Given the description of an element on the screen output the (x, y) to click on. 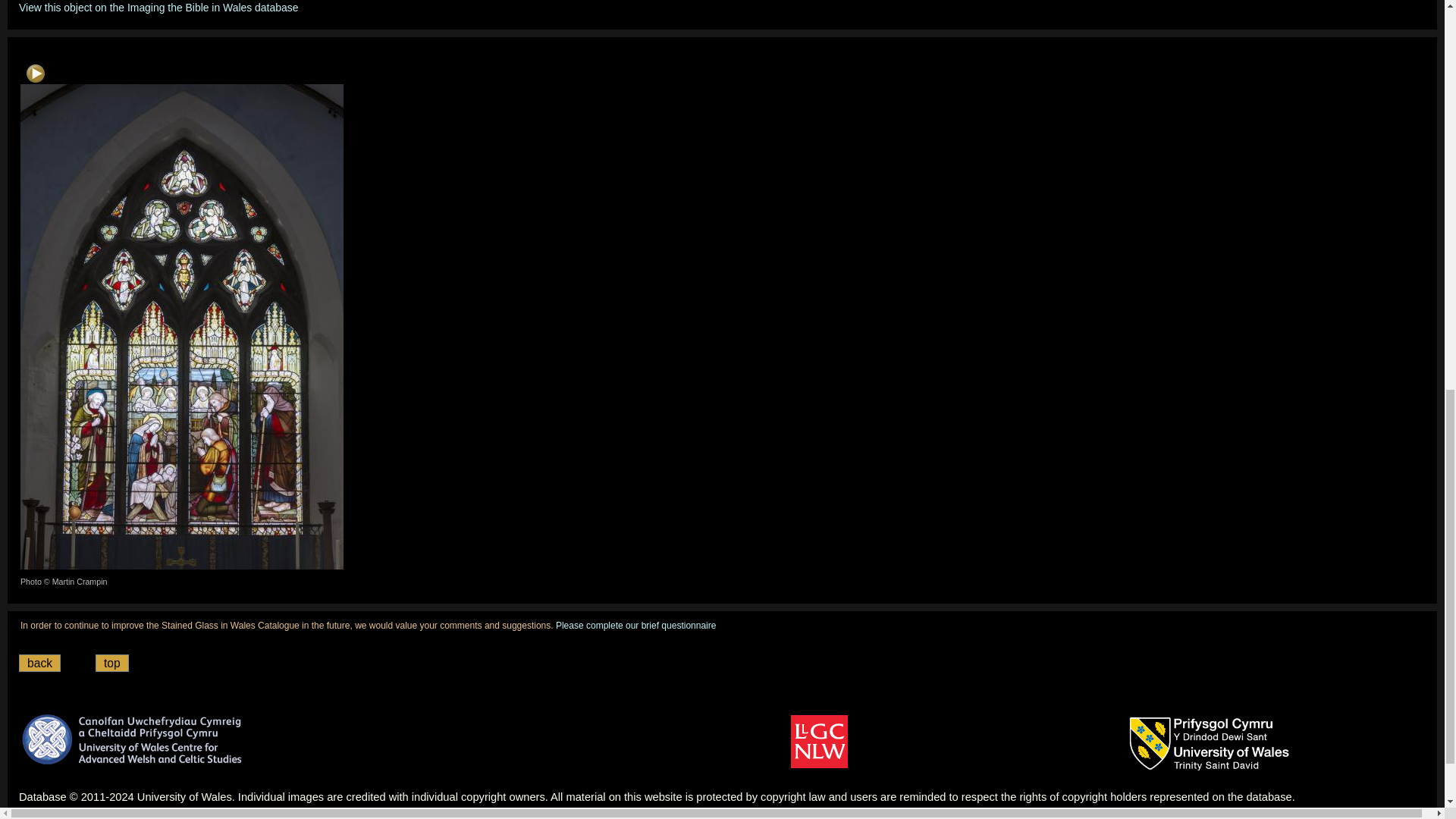
National Library of Wales - project partner (818, 741)
University of Wales, Trinity Saint David - project partner (1210, 743)
back (39, 662)
next image (35, 73)
Please complete our brief questionnaire (636, 624)
Centre for Advanced Welsh and Celtic Studies (133, 738)
View this object on the Imaging the Bible in Wales database (158, 7)
